Given the description of an element on the screen output the (x, y) to click on. 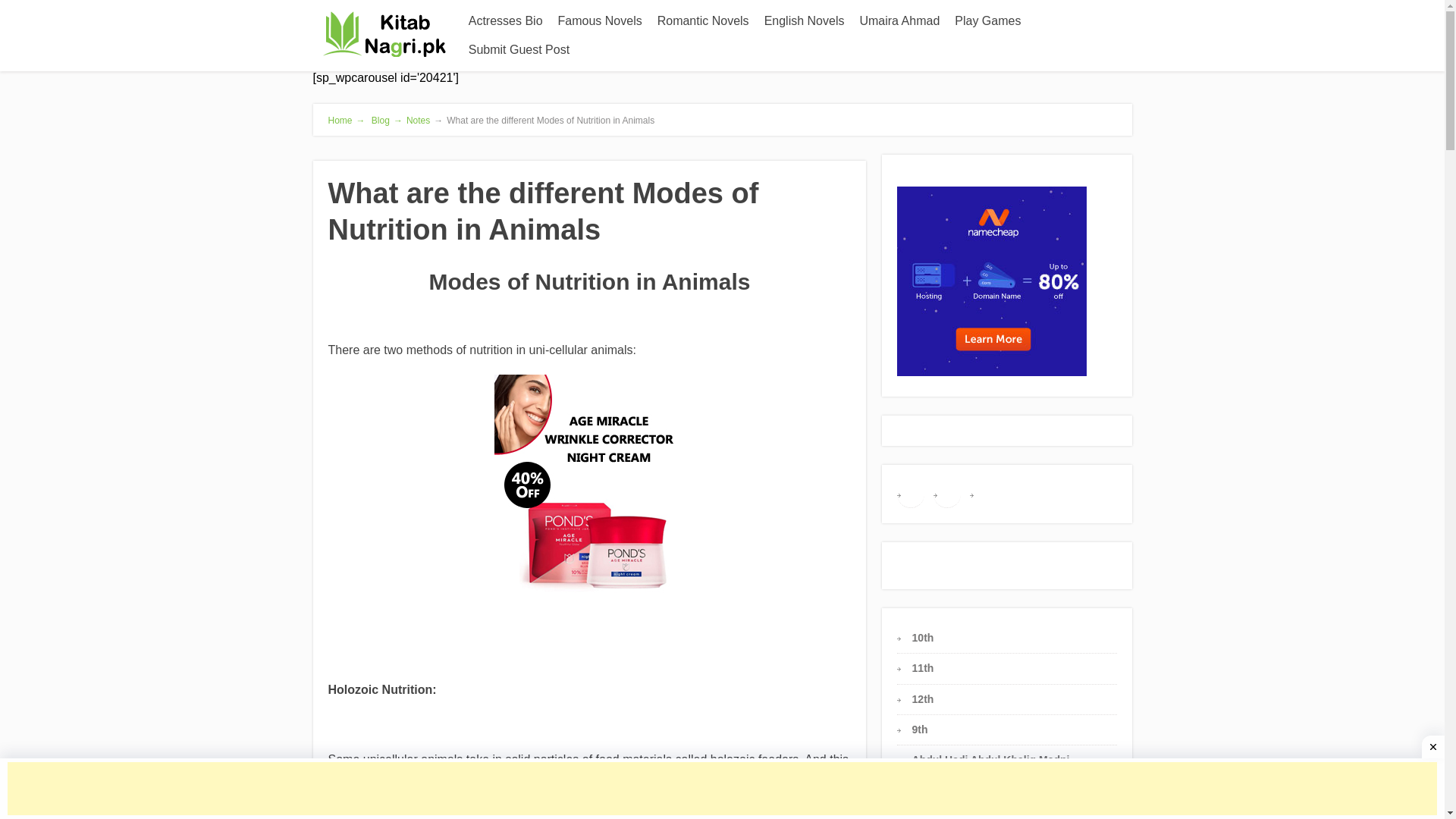
Famous Novels (599, 21)
Notes (417, 120)
Submit Guest Post (518, 50)
Abdul Hadi Abdul Khaliq Madni (991, 759)
English Novels (804, 21)
10th (923, 637)
Abu Yahya (939, 816)
Tumblr (983, 492)
11th (923, 667)
Umaira Ahmad (899, 21)
Abdul Wahid (944, 789)
Play Games (987, 21)
Facebook (910, 492)
9th (920, 729)
Pinterest (946, 492)
